Given the description of an element on the screen output the (x, y) to click on. 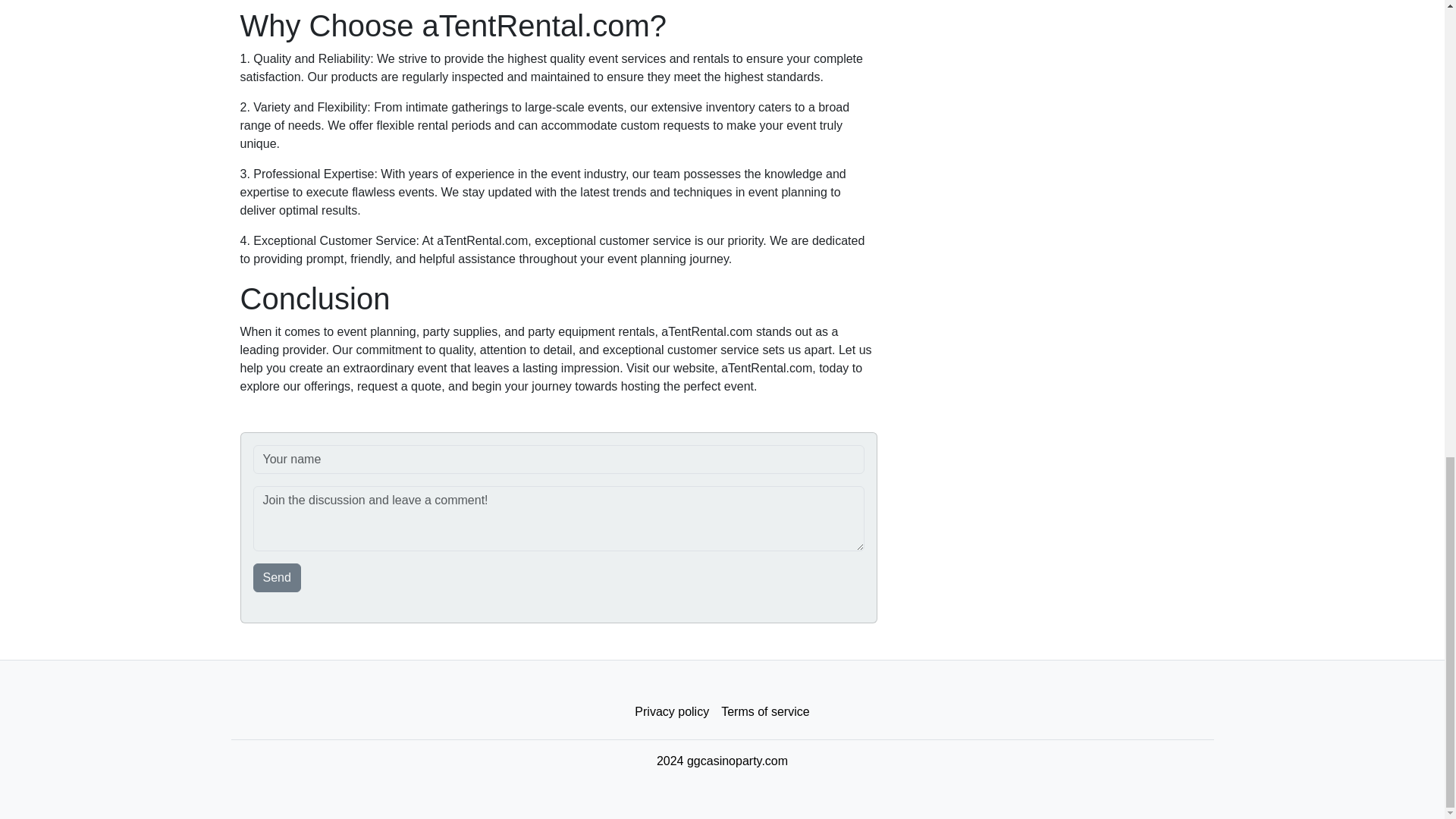
Terms of service (764, 711)
Send (277, 577)
Send (277, 577)
Privacy policy (671, 711)
